Given the description of an element on the screen output the (x, y) to click on. 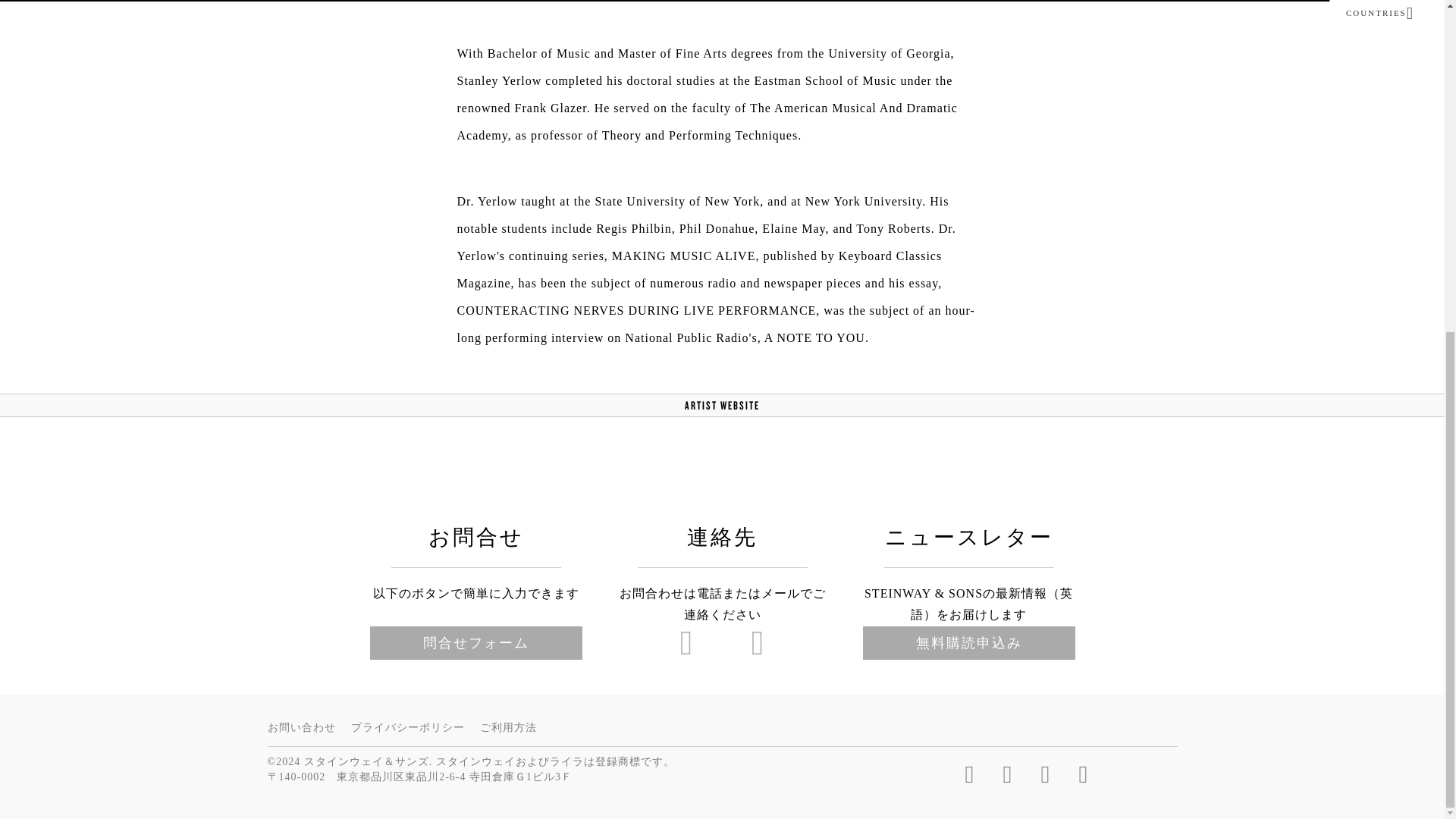
ARTIST WEBSITE (722, 405)
